Given the description of an element on the screen output the (x, y) to click on. 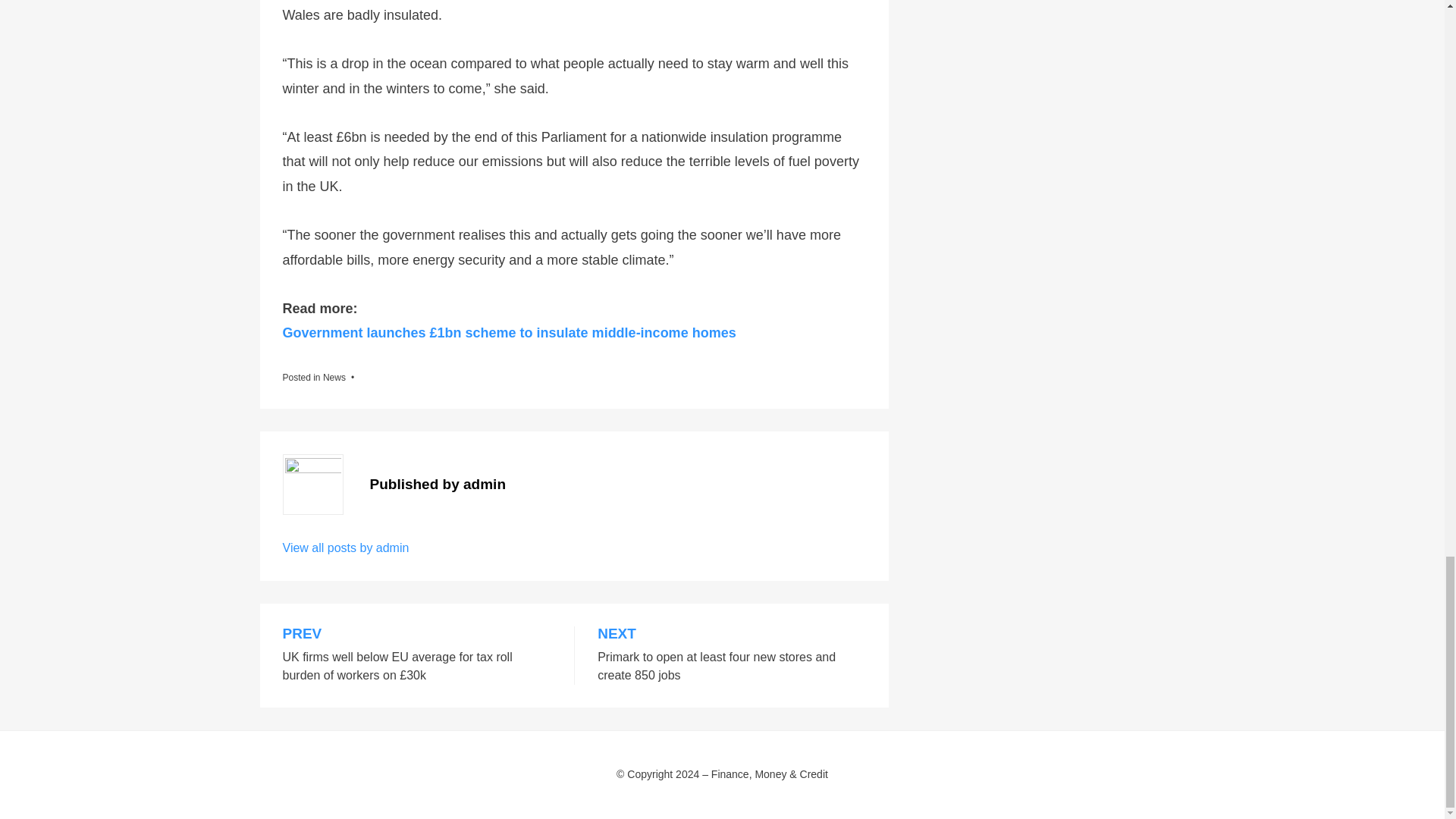
News (334, 377)
View all posts by admin (345, 547)
WordPress (496, 796)
BestBlogThemes (378, 796)
BestBlogThemes (378, 796)
WordPress (496, 796)
